Given the description of an element on the screen output the (x, y) to click on. 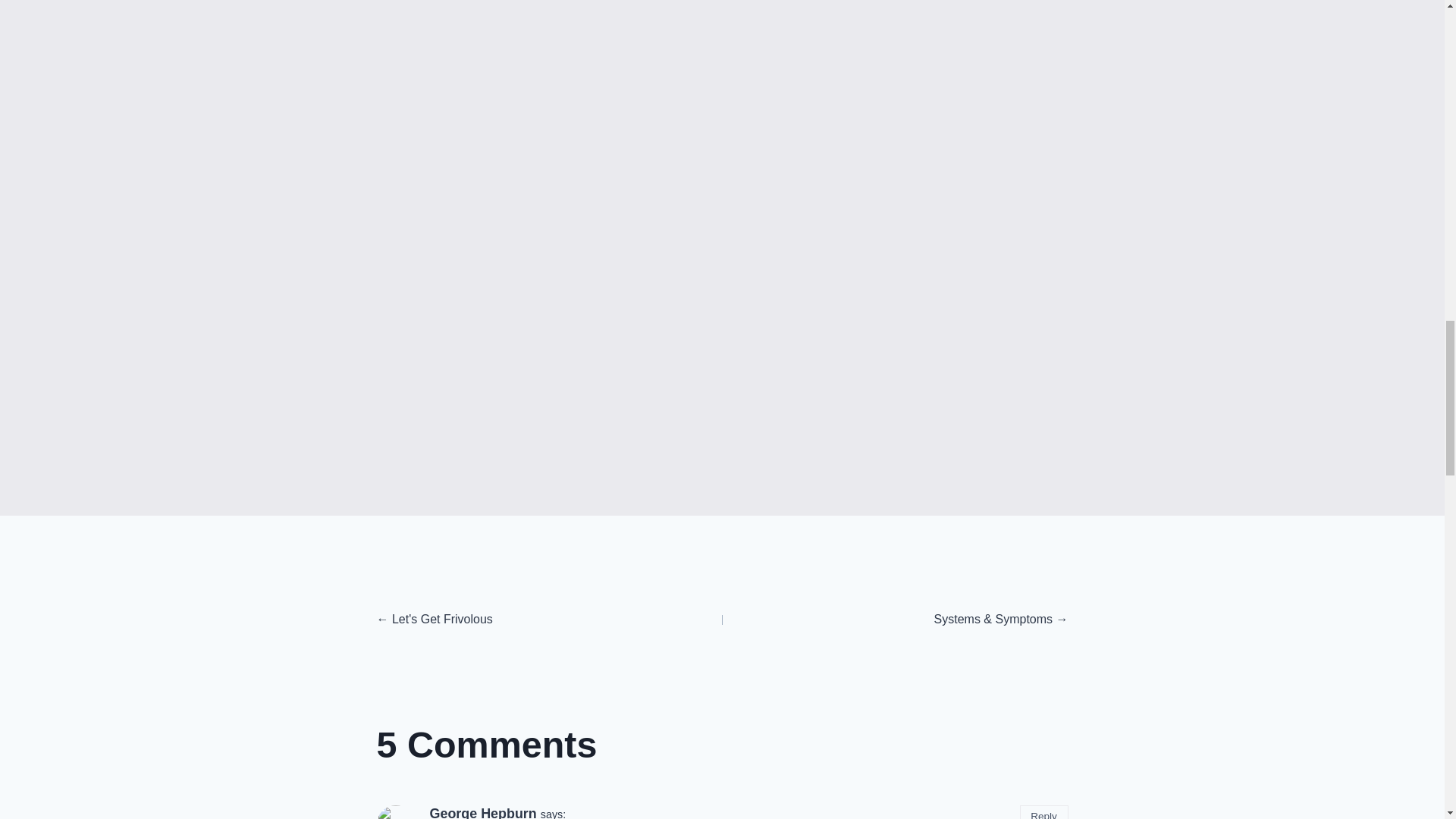
Reply (1044, 812)
